Given the description of an element on the screen output the (x, y) to click on. 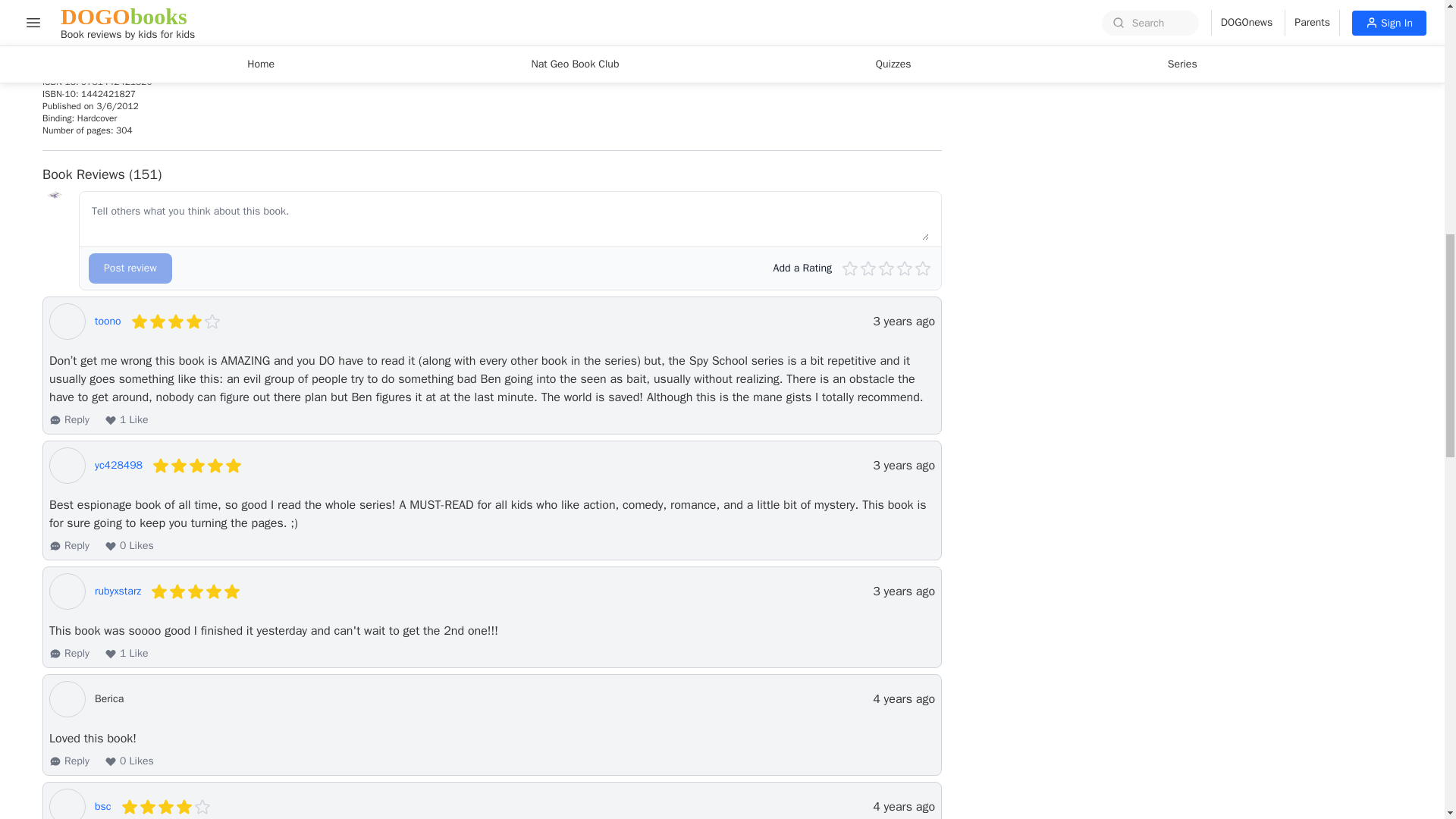
Reply (68, 419)
0 Likes (129, 761)
February 22, 2021 (903, 591)
Reply (68, 653)
Reply (68, 545)
toono (107, 321)
March 21, 2021 (903, 321)
Reply (68, 761)
February 22, 2021 (903, 465)
1 Like (126, 419)
